Given the description of an element on the screen output the (x, y) to click on. 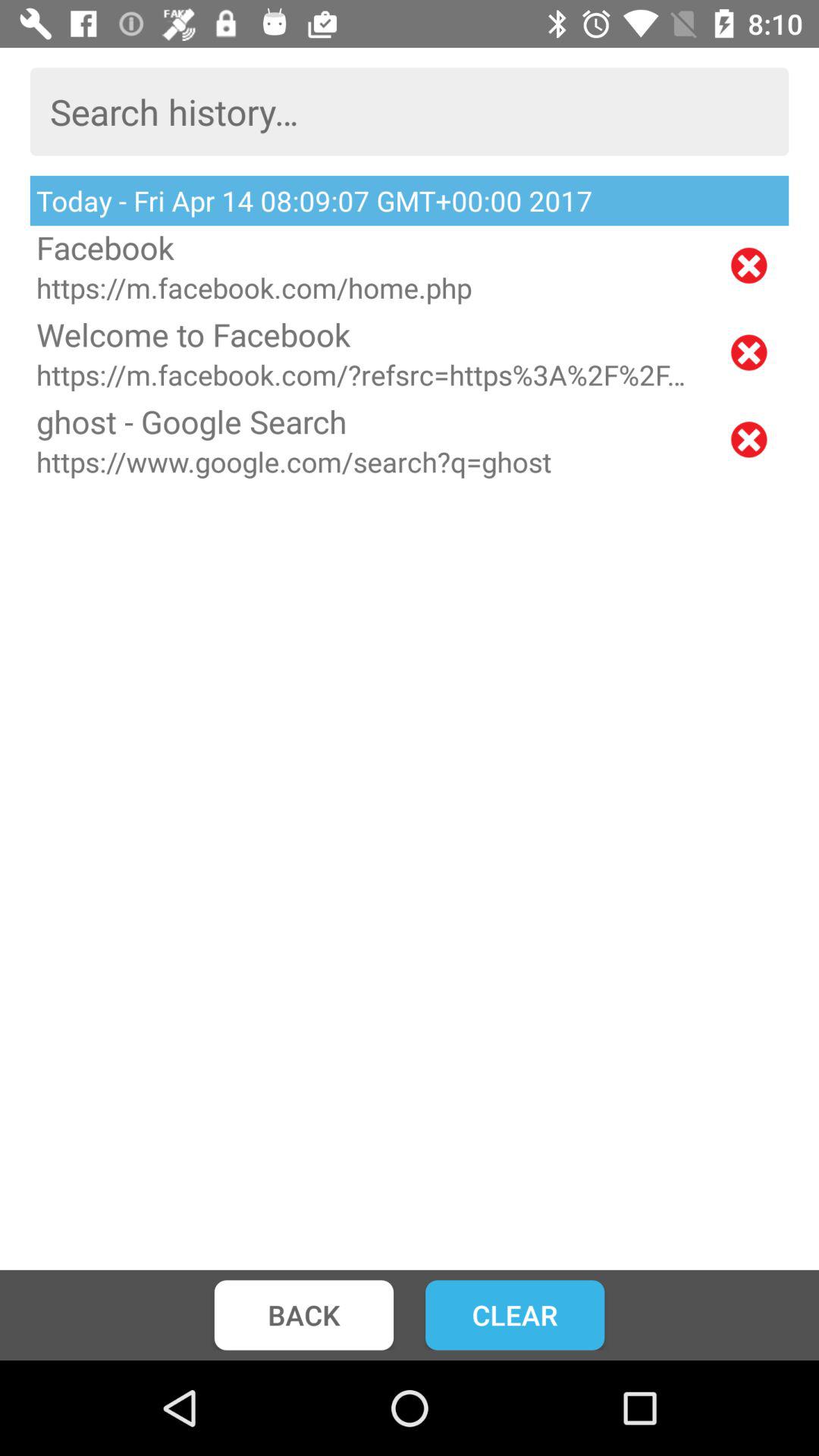
choose item below the https www google icon (303, 1315)
